Given the description of an element on the screen output the (x, y) to click on. 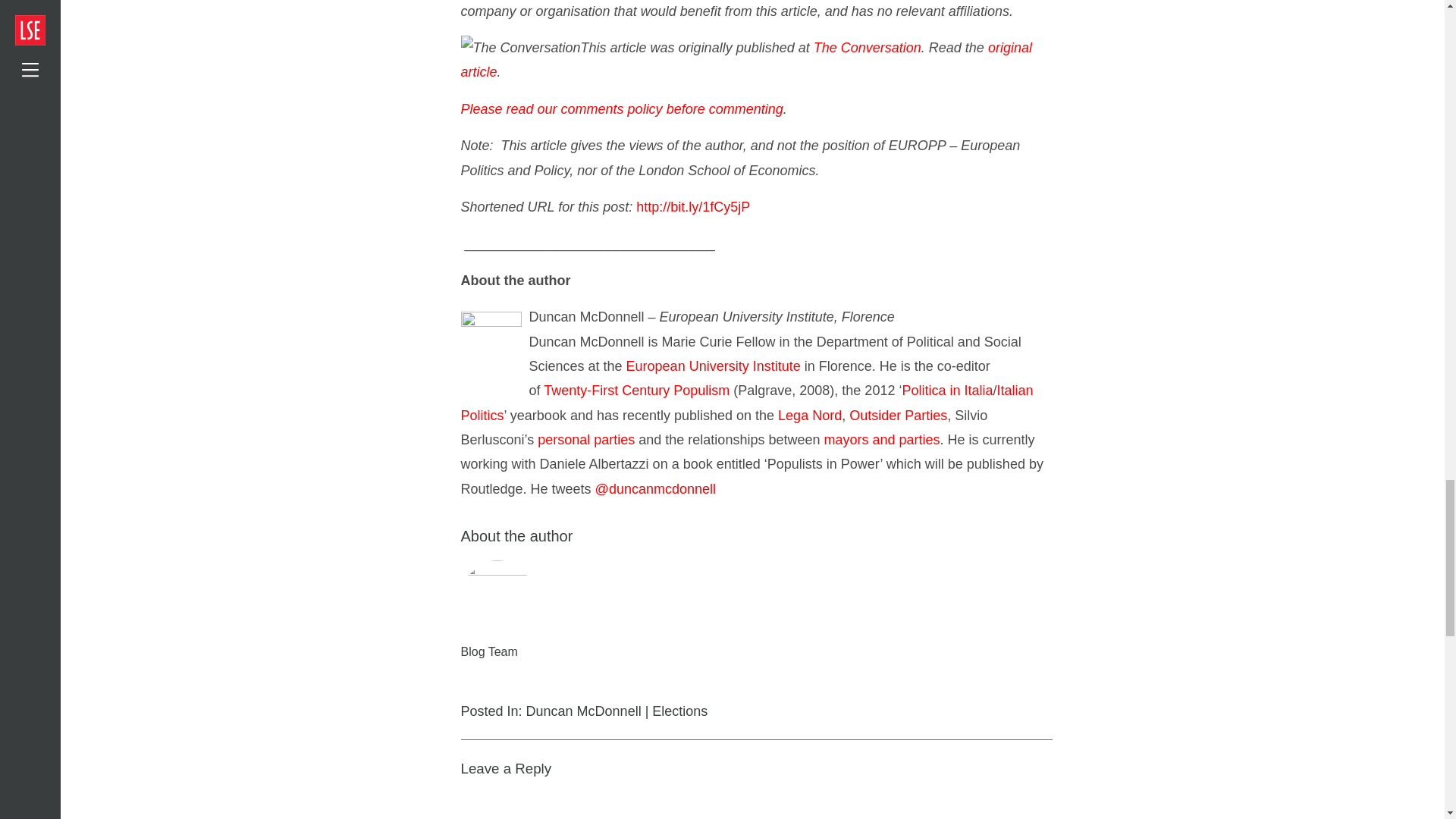
Comment Form (756, 805)
The Conversation (867, 47)
original article (746, 59)
